Given the description of an element on the screen output the (x, y) to click on. 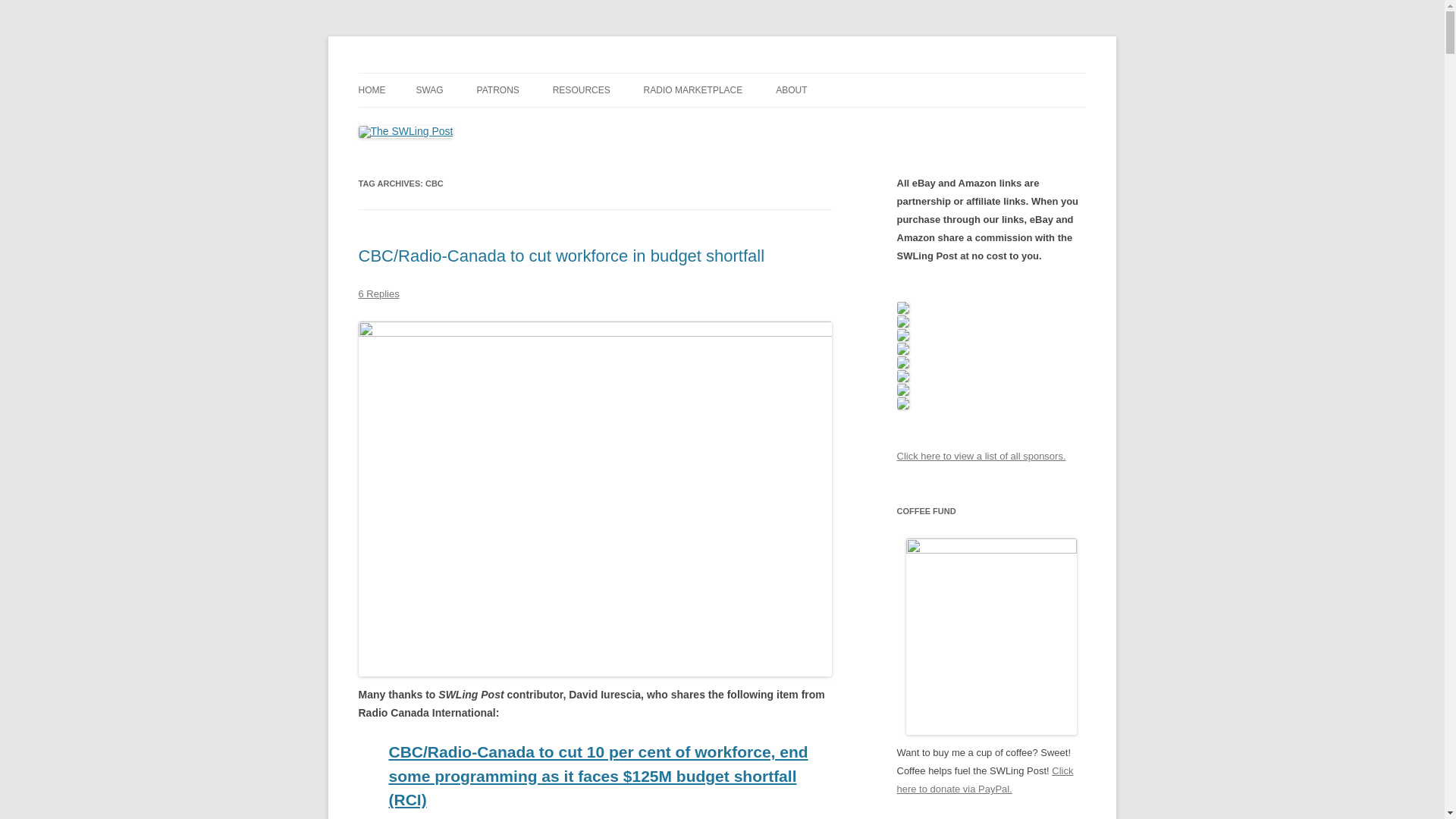
ABOUT (791, 90)
6 Replies (378, 491)
RADIO MARKETPLACE (692, 90)
The SWLing Post (438, 72)
OUR SPONSORS (552, 122)
LIST OF QRP GENERAL COVERAGE AMATEUR RADIO TRANSCEIVERS (718, 140)
RESOURCES (581, 90)
PATRONS (498, 90)
